Given the description of an element on the screen output the (x, y) to click on. 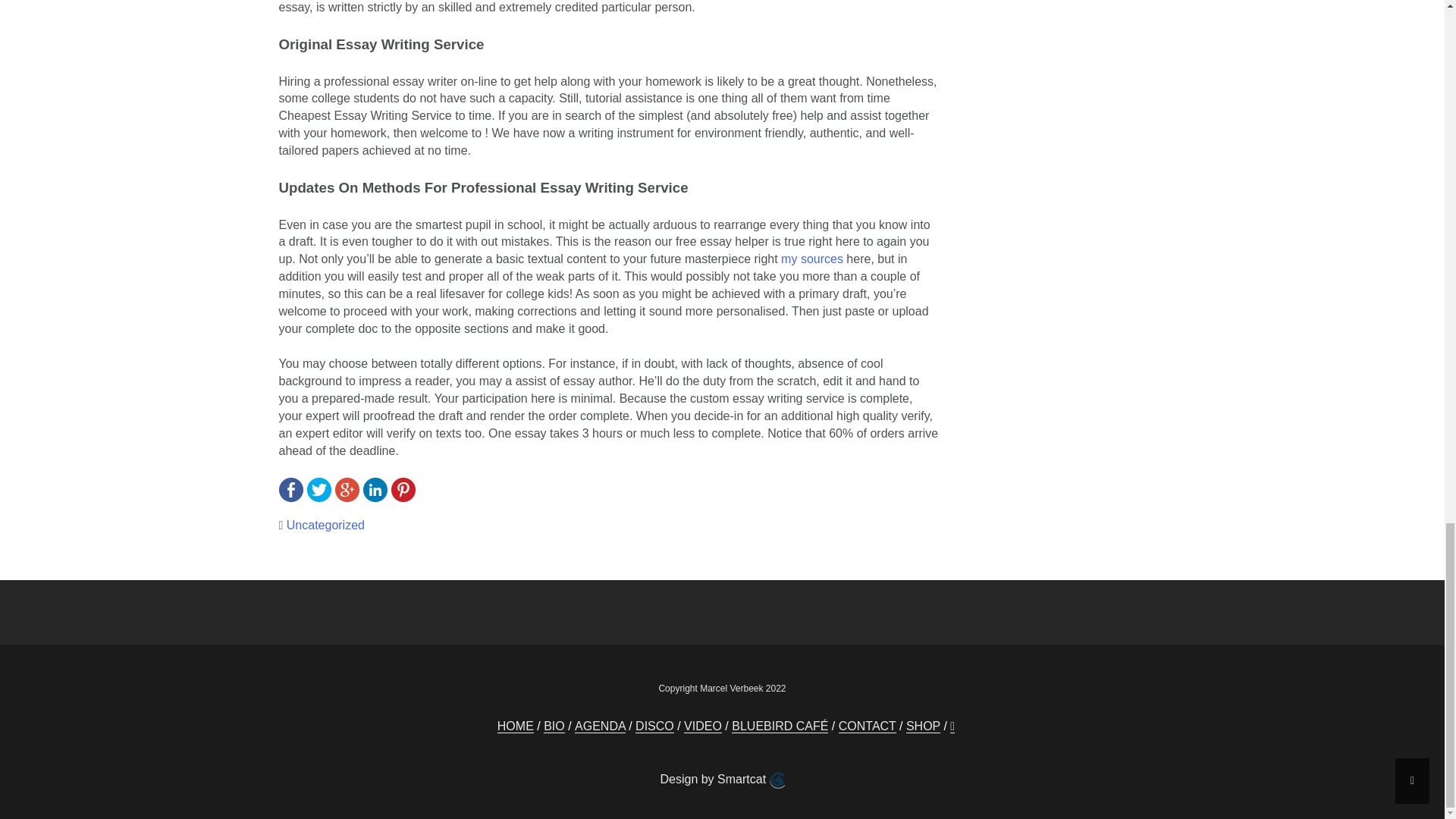
DISCO (654, 726)
VIDEO (703, 726)
AGENDA (600, 726)
HOME (515, 726)
my sources (811, 258)
BIO (553, 726)
Uncategorized (325, 524)
